Given the description of an element on the screen output the (x, y) to click on. 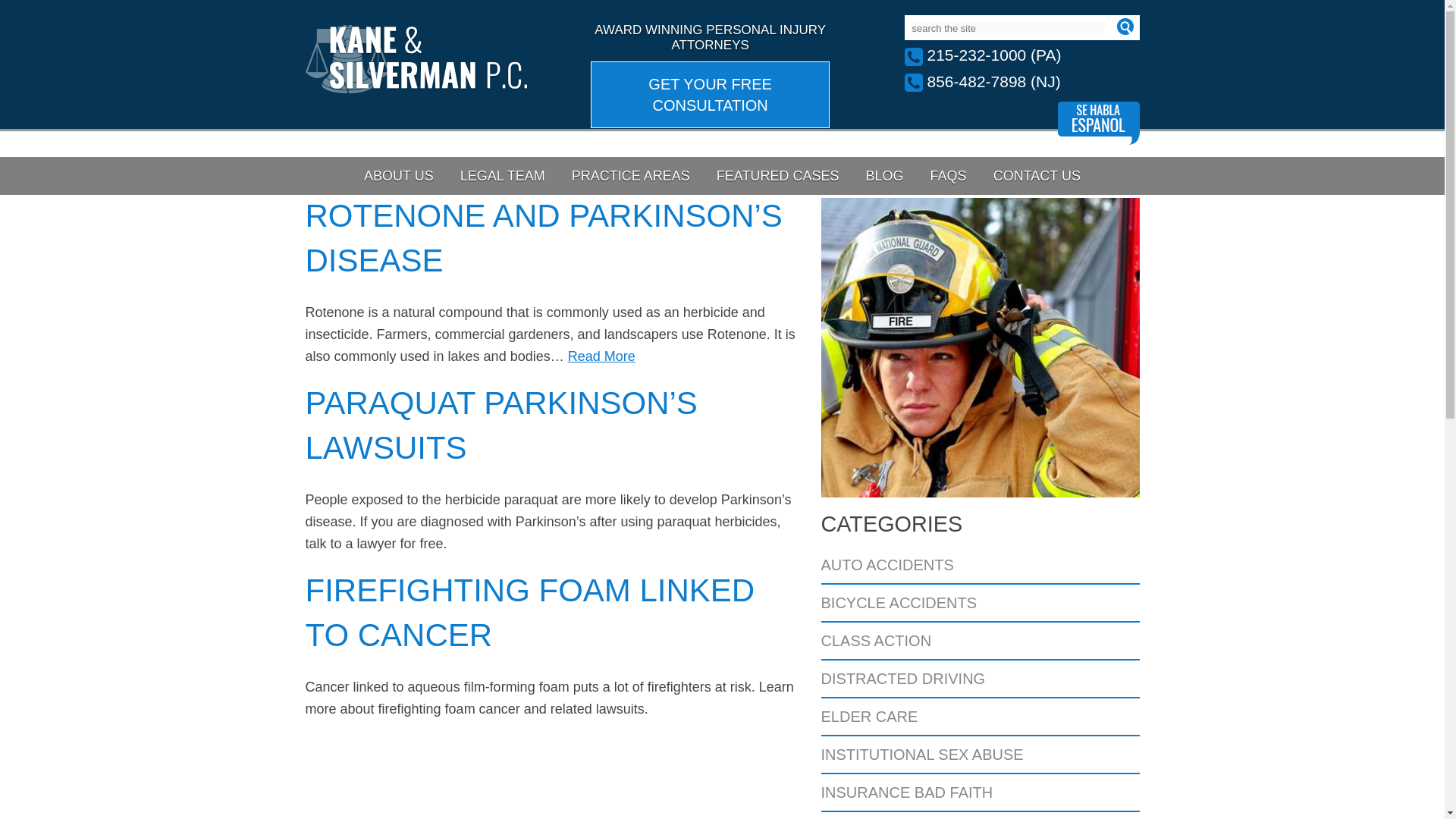
Search (1124, 26)
Search (1124, 26)
ABOUT US (398, 175)
Search (1124, 26)
PRACTICE AREAS (630, 175)
GET YOUR FREE CONSULTATION (710, 94)
search the site: (1006, 28)
LEGAL TEAM (502, 175)
